Given the description of an element on the screen output the (x, y) to click on. 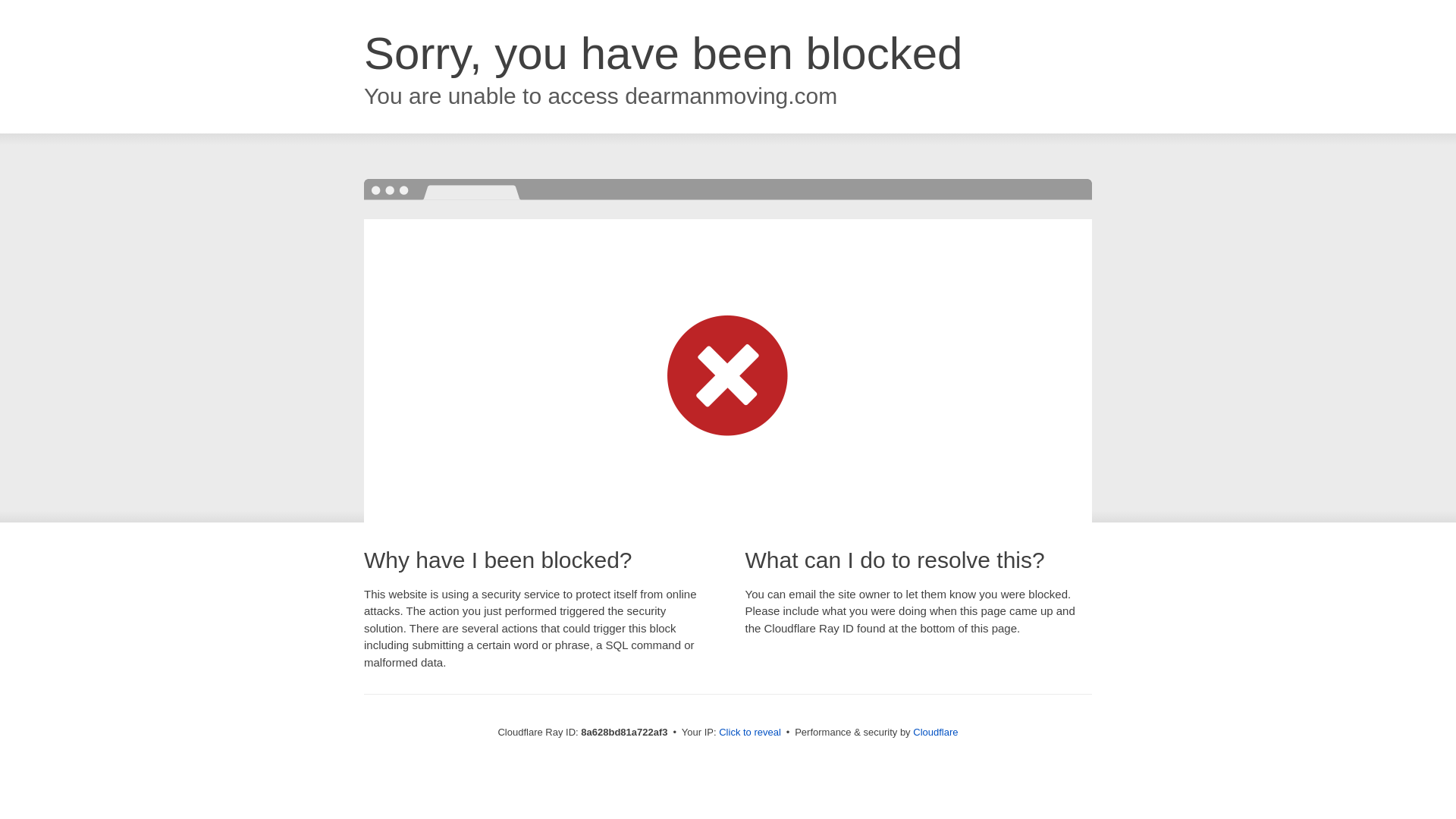
Cloudflare (935, 731)
Click to reveal (749, 732)
